Given the description of an element on the screen output the (x, y) to click on. 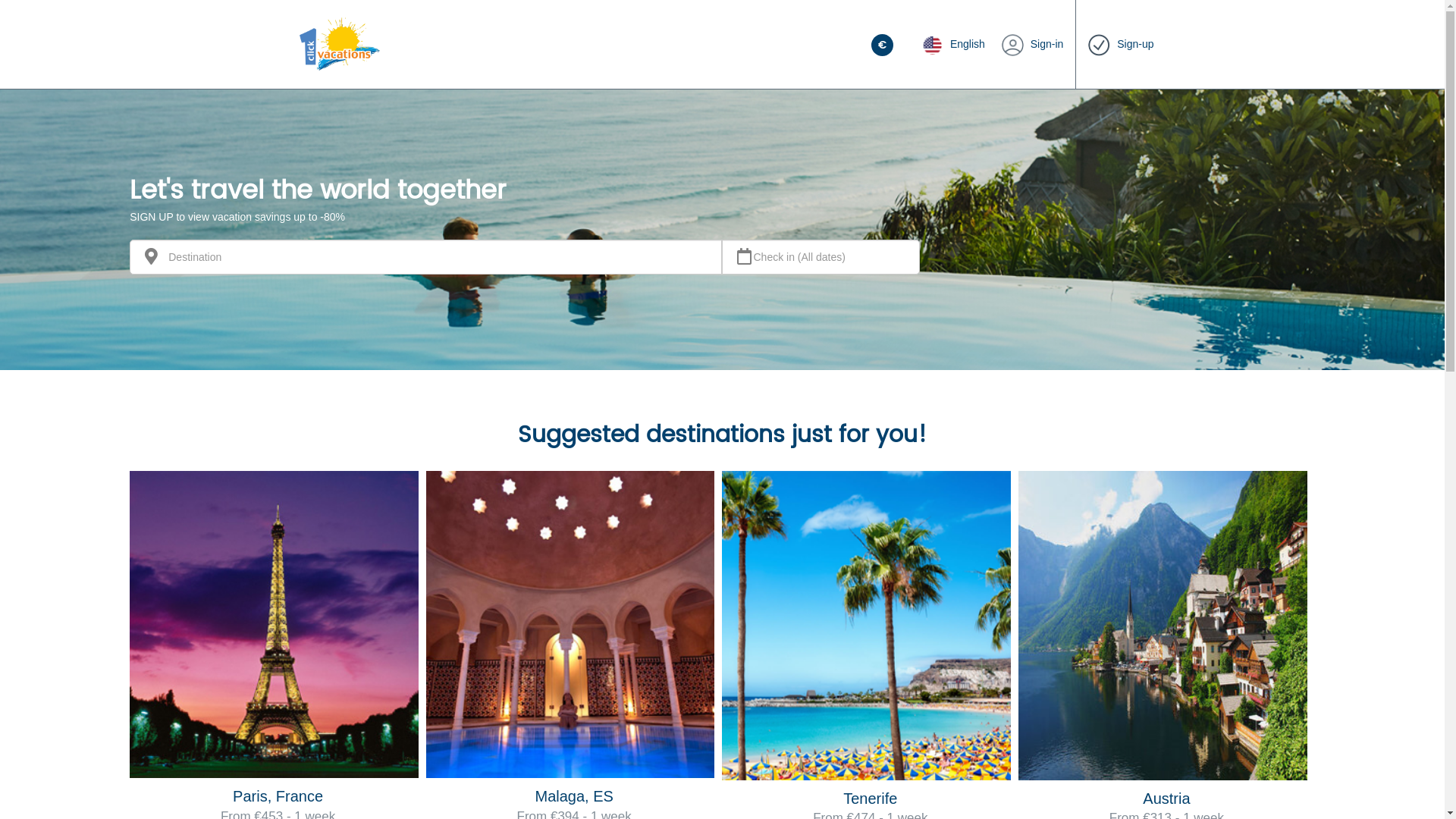
Sign-in Element type: text (1032, 44)
English Element type: text (948, 44)
  Element type: text (883, 44)
Sign-up Element type: text (1120, 44)
